Given the description of an element on the screen output the (x, y) to click on. 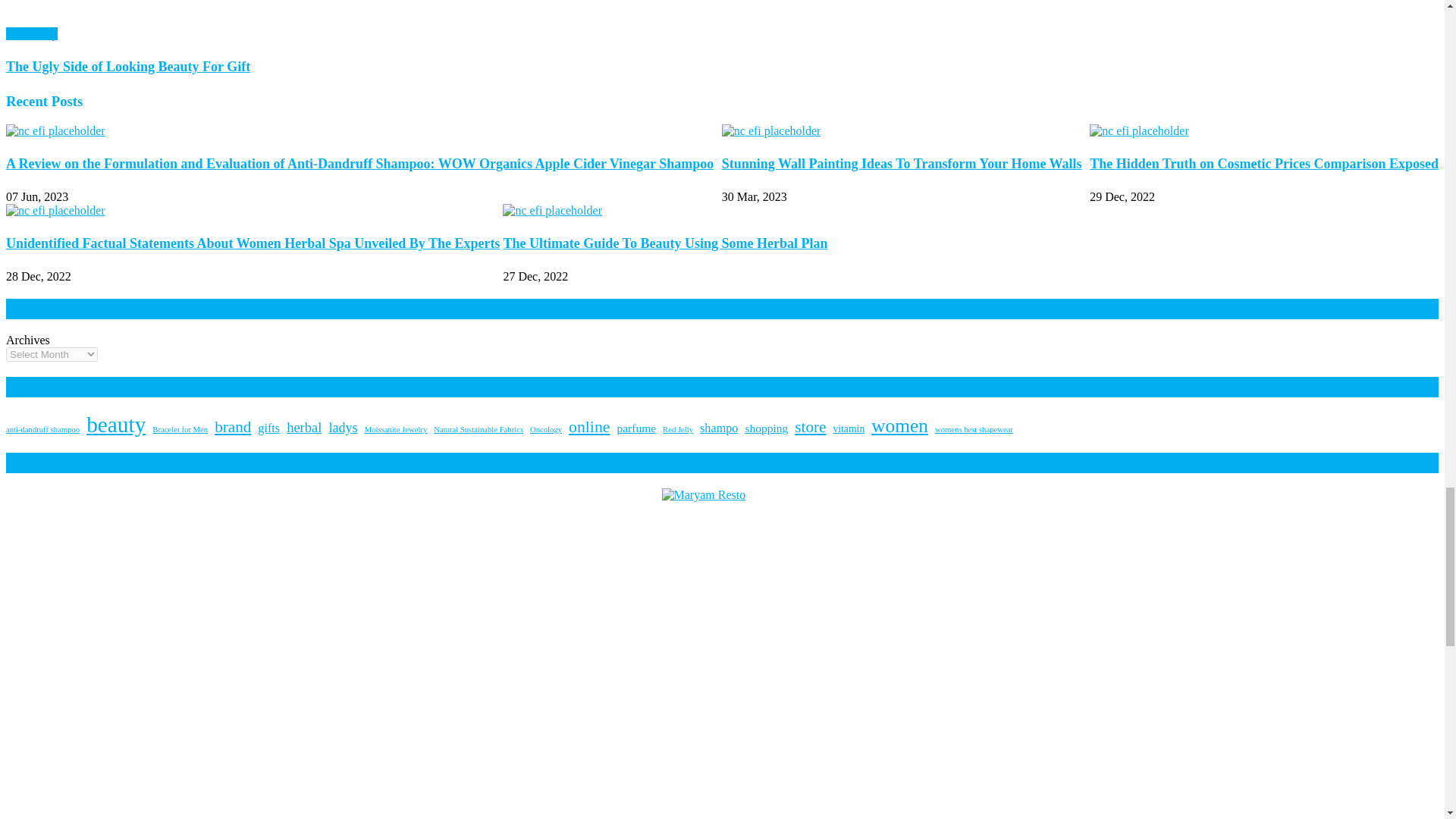
Stunning Wall Painting Ideas To Transform Your Home Walls (771, 131)
Gift (15, 33)
The Ultimate Guide To Beauty Using Some Herbal Plan (552, 210)
The Hidden Truth on Cosmetic Prices Comparison Exposed (1139, 131)
The Ugly Side of Looking Beauty For Gift (721, 13)
